Given the description of an element on the screen output the (x, y) to click on. 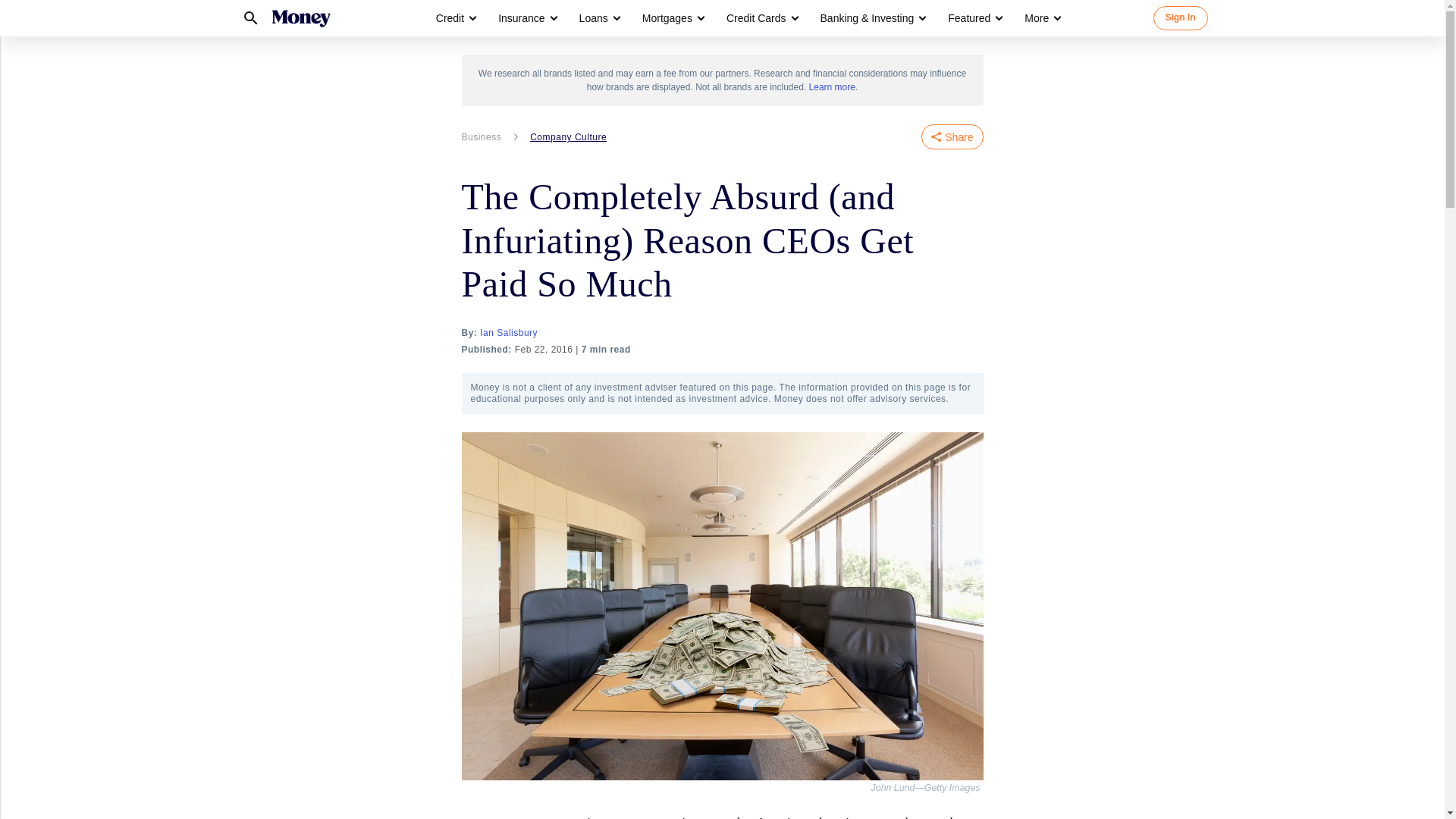
Loans (593, 18)
Mortgages (667, 18)
Credit (455, 18)
Mortgages (672, 18)
Credit (449, 18)
Insurance (520, 18)
Credit Cards (756, 18)
Loans (598, 18)
Insurance (526, 18)
Credit Cards (761, 18)
